Given the description of an element on the screen output the (x, y) to click on. 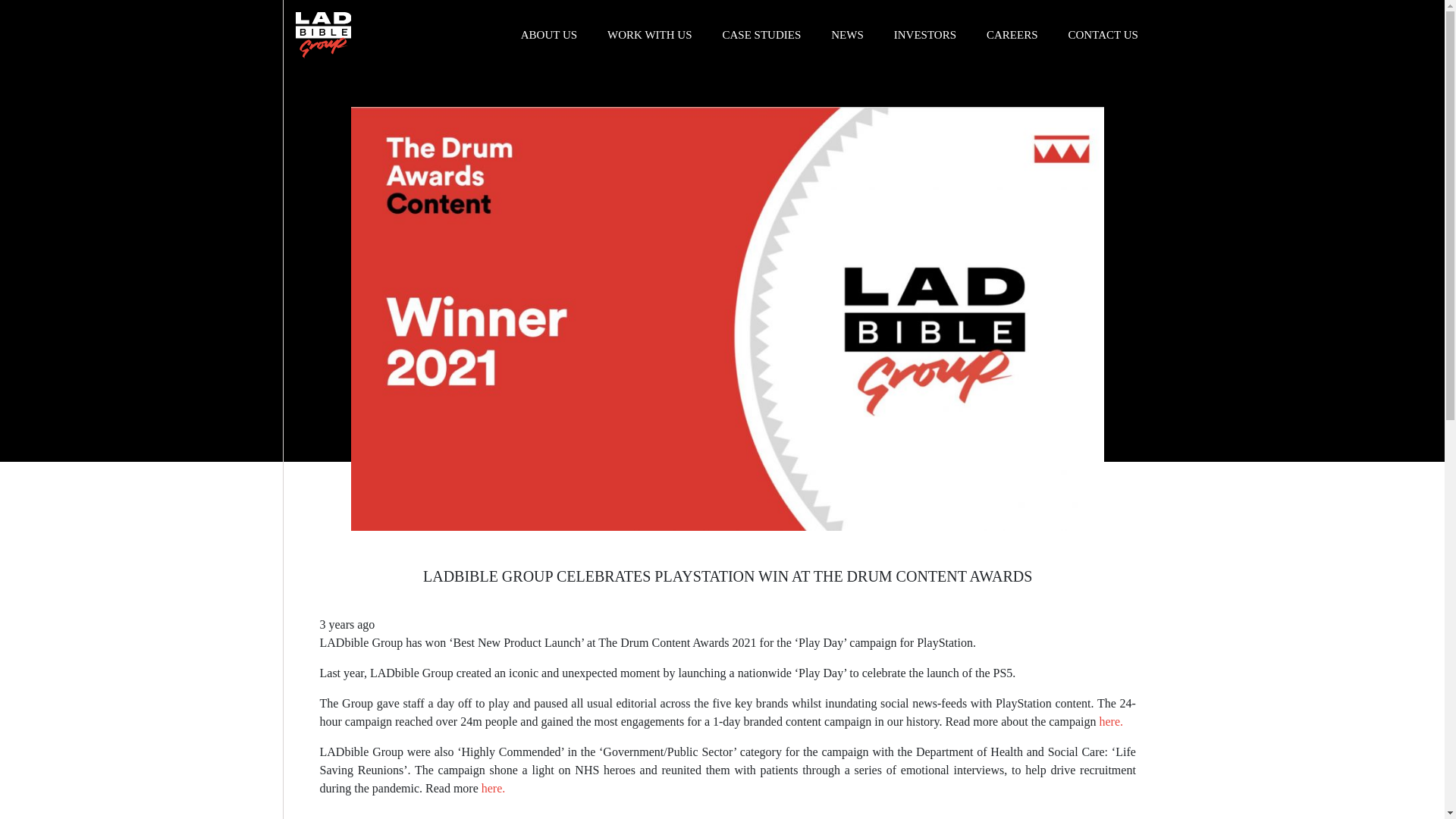
WORK WITH US (648, 35)
CAREERS (1011, 35)
INVESTORS (924, 35)
CONTACT US (1103, 35)
here.  (494, 788)
ABOUT US (549, 35)
CASE STUDIES (761, 35)
here. (1110, 721)
